Given the description of an element on the screen output the (x, y) to click on. 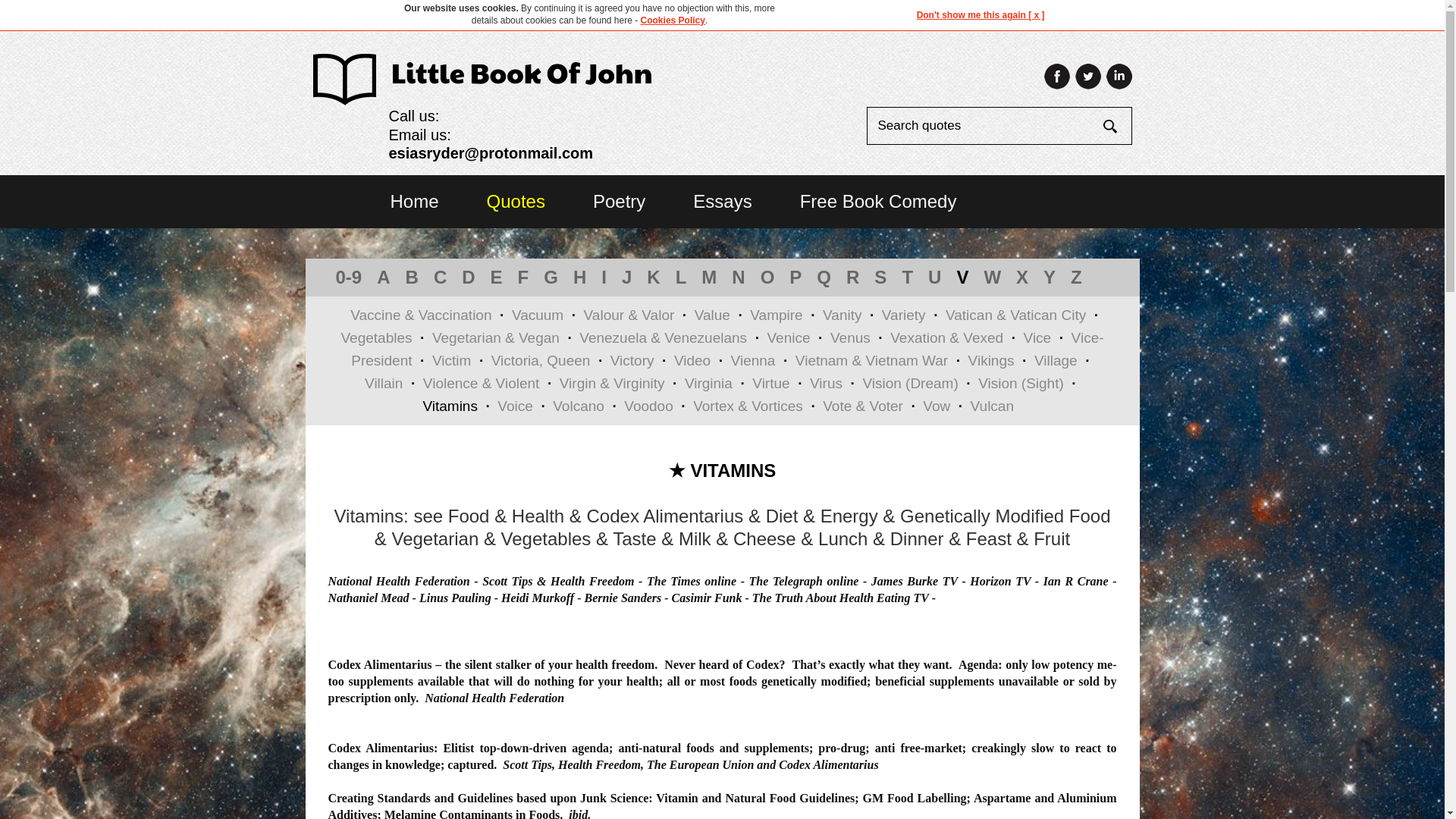
Free Book Comedy (877, 200)
Essays (722, 200)
Search quotes (983, 126)
Poetry (618, 200)
Home (414, 200)
Quotes (515, 200)
